Given the description of an element on the screen output the (x, y) to click on. 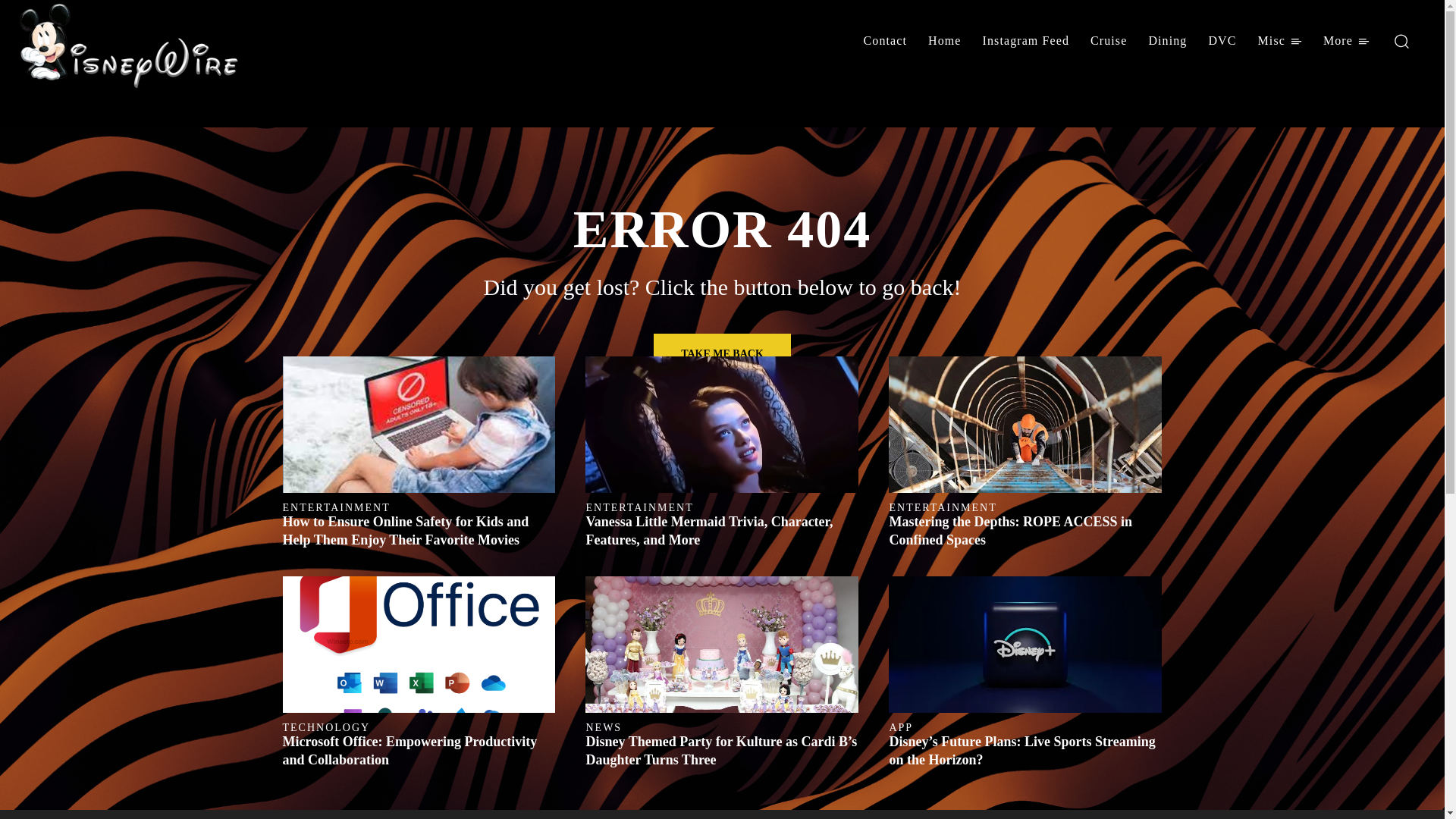
Instagram Feed (1026, 40)
Contact (885, 40)
TAKE ME BACK (721, 354)
DVC (1221, 40)
TAKE ME BACK (721, 354)
Vanessa Little Mermaid Trivia, Character, Features, and More (708, 530)
ENTERTAINMENT (336, 507)
Mastering the Depths: ROPE ACCESS in Confined Spaces (1024, 424)
